Given the description of an element on the screen output the (x, y) to click on. 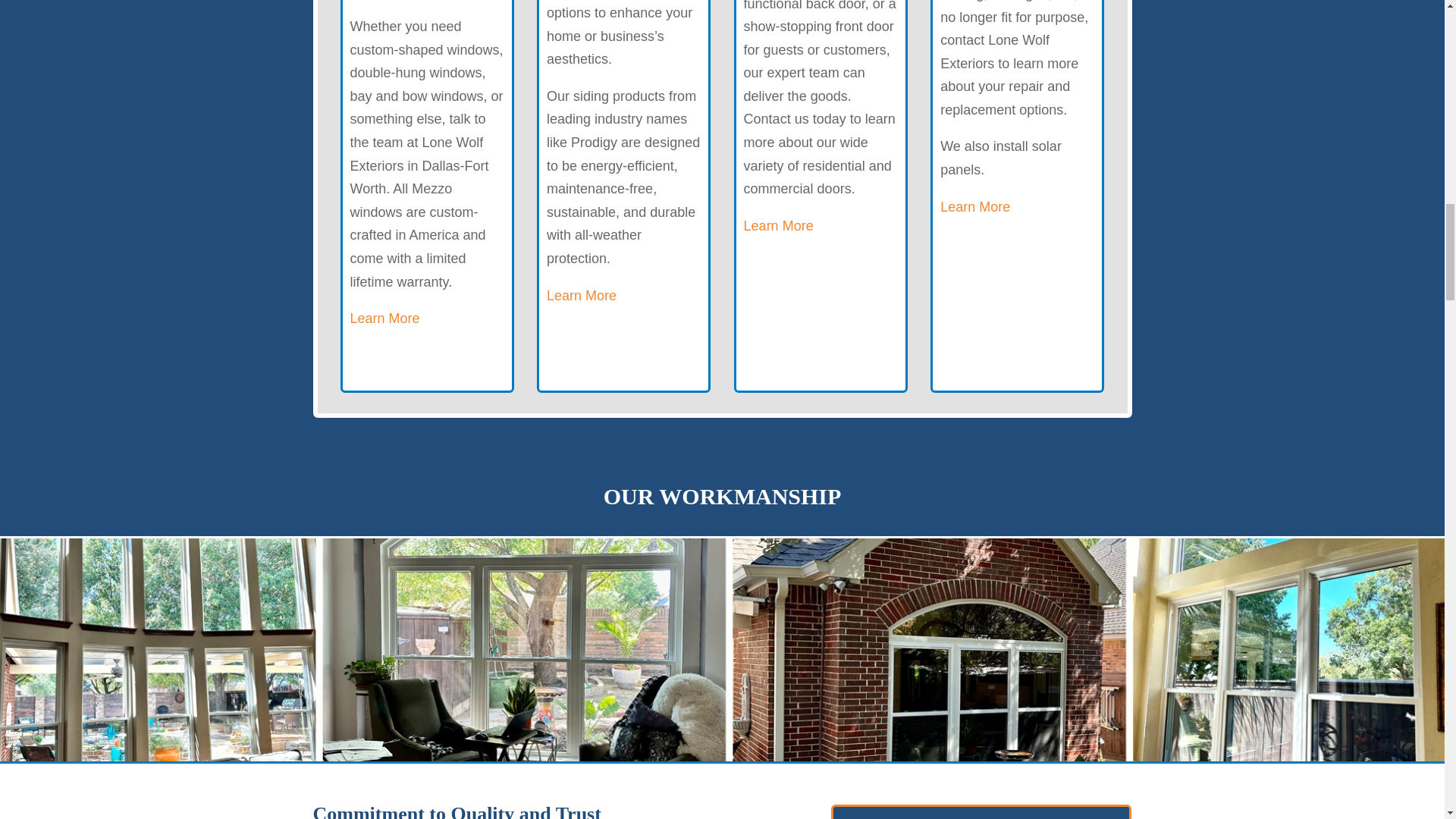
Learn More (385, 318)
Learn More (581, 295)
Learn More (778, 225)
Learn More (975, 206)
